Given the description of an element on the screen output the (x, y) to click on. 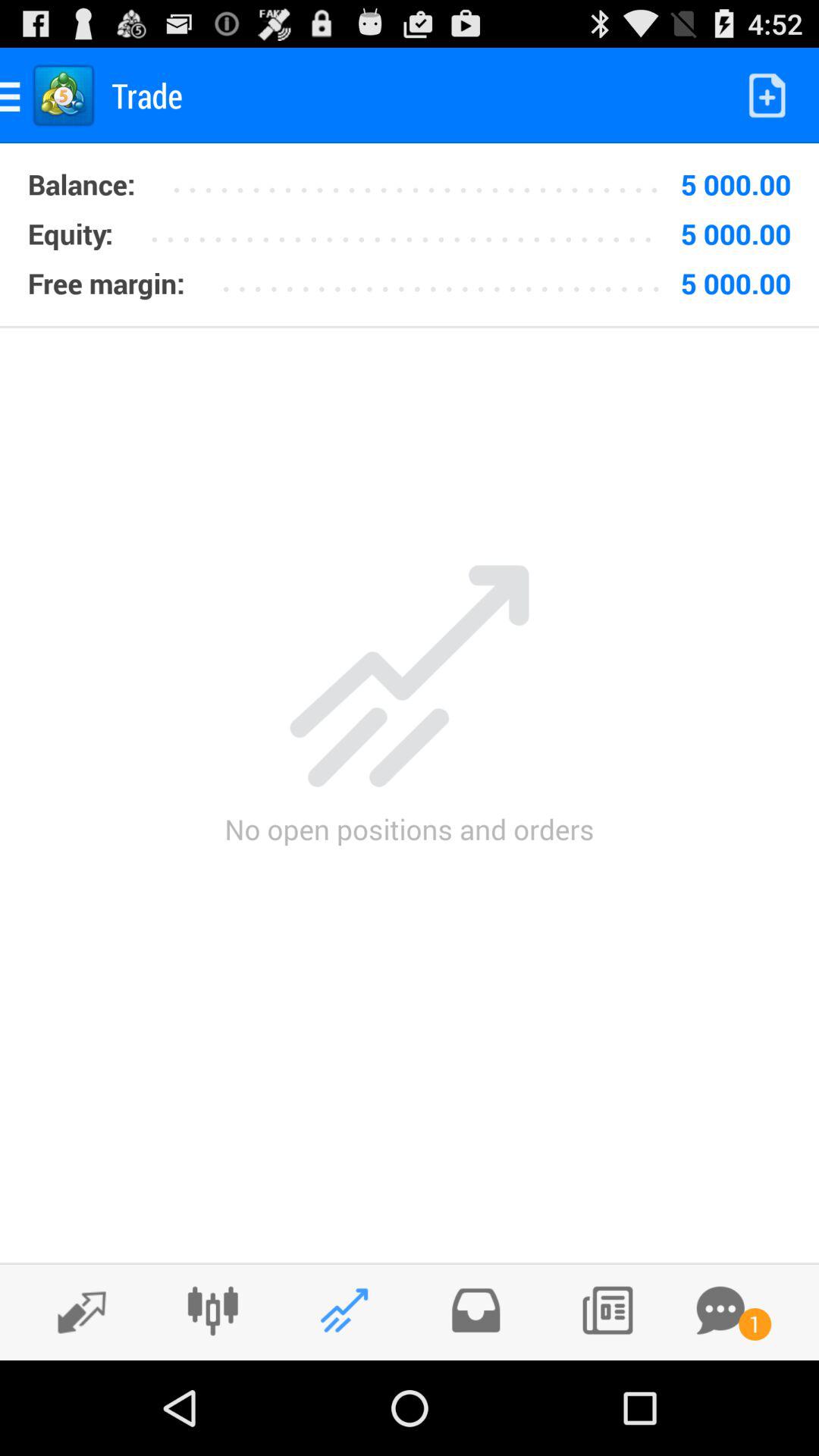
turn off the item next to the balance: item (410, 228)
